Given the description of an element on the screen output the (x, y) to click on. 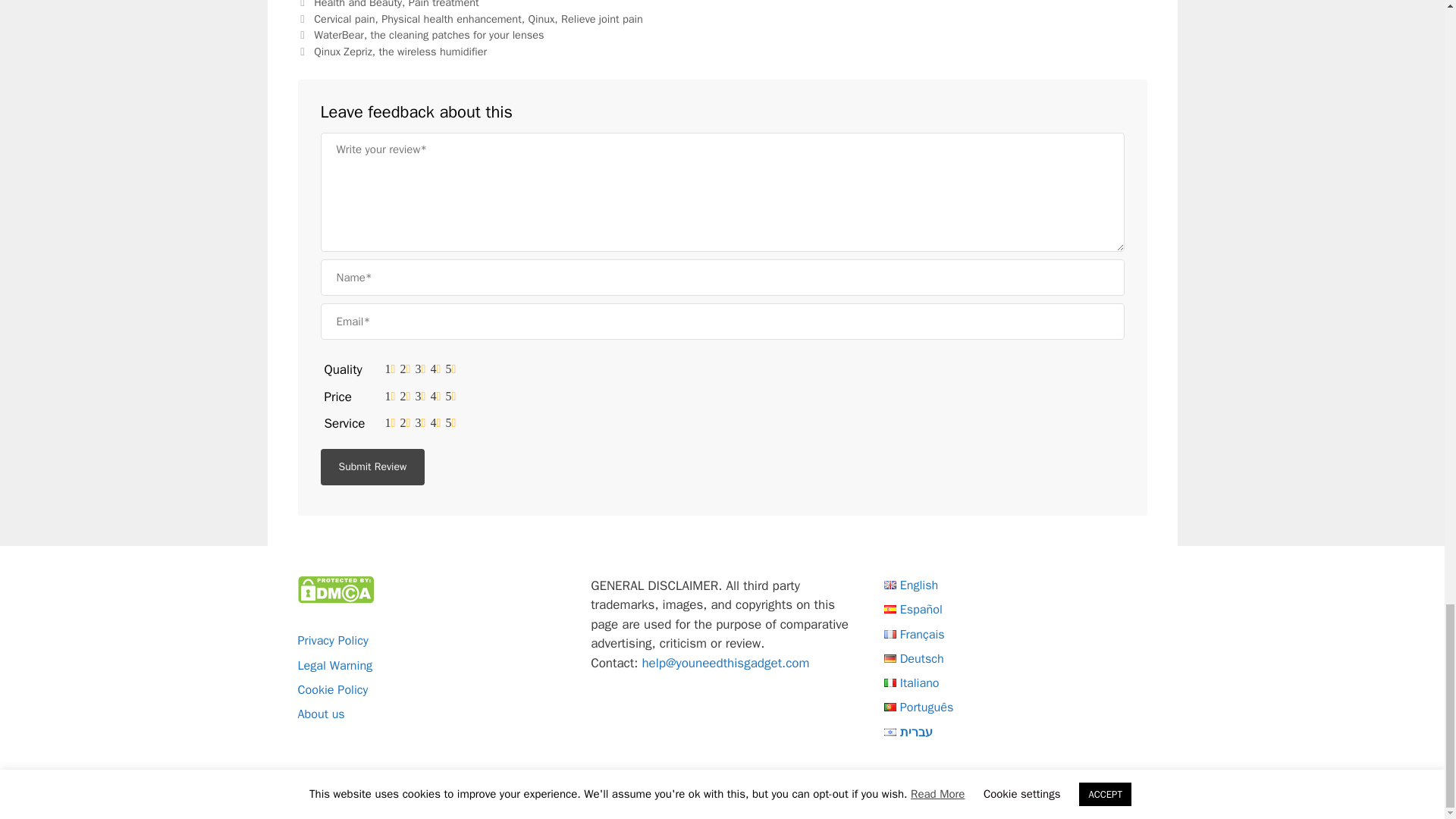
Submit Review (372, 466)
